Given the description of an element on the screen output the (x, y) to click on. 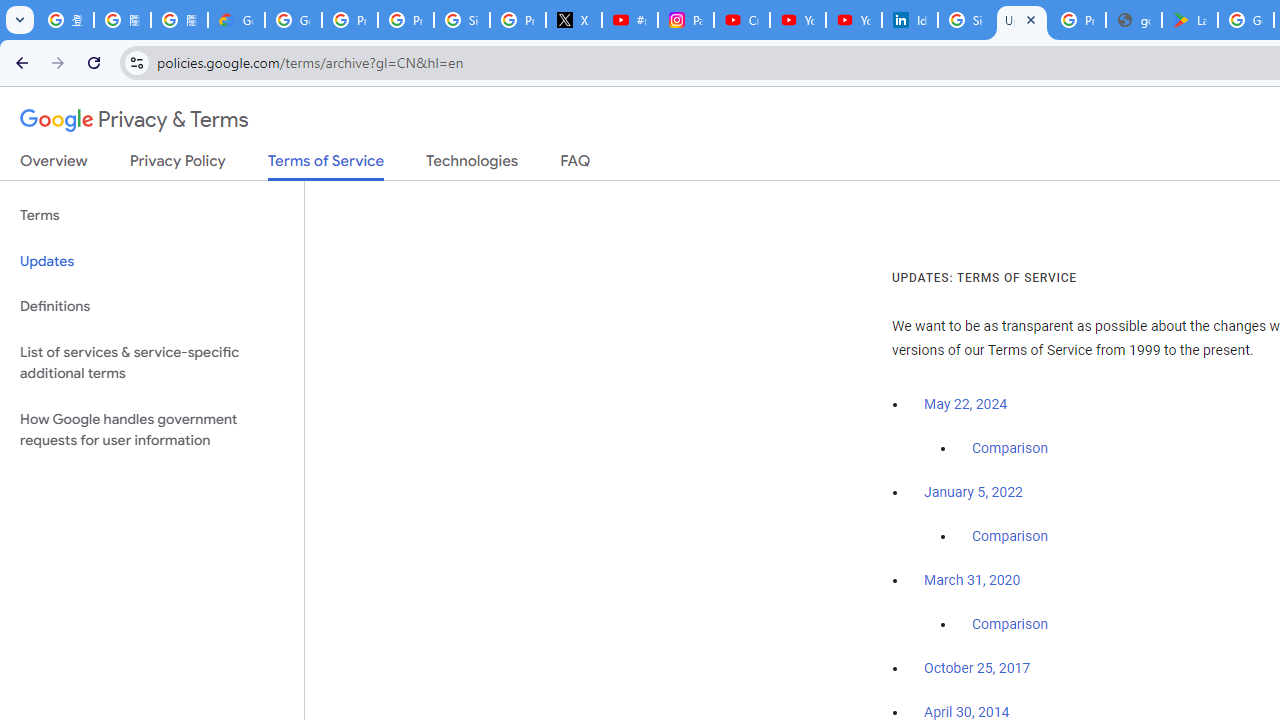
#nbabasketballhighlights - YouTube (629, 20)
March 31, 2020 (972, 580)
Last Shelter: Survival - Apps on Google Play (1190, 20)
Privacy Help Center - Policies Help (405, 20)
January 5, 2022 (973, 492)
May 22, 2024 (966, 404)
